Given the description of an element on the screen output the (x, y) to click on. 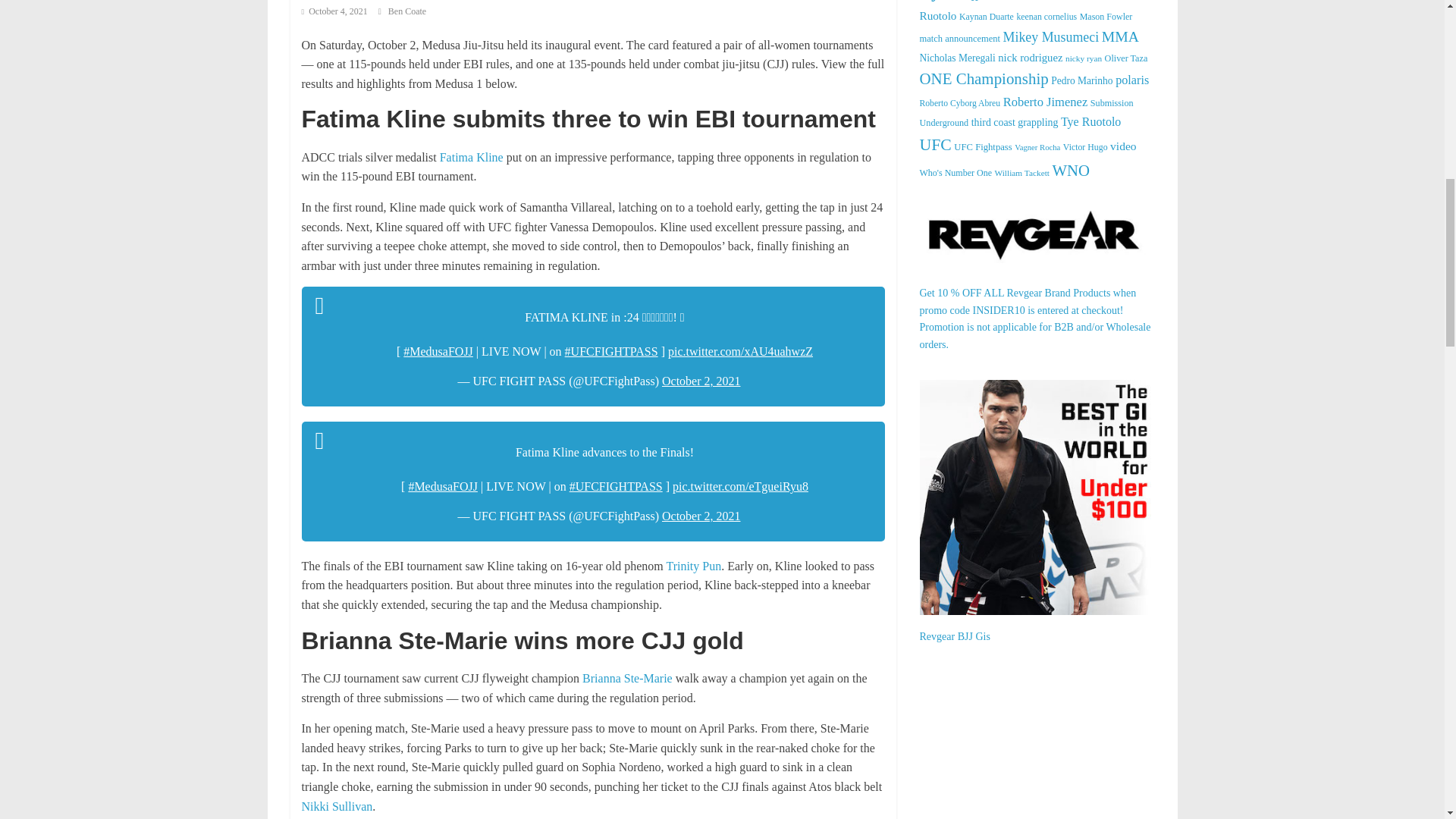
Ben Coate (407, 10)
Fatima Kline (471, 156)
8:39 pm (334, 10)
October 2, 2021 (701, 515)
October 2, 2021 (701, 380)
Ben Coate (407, 10)
October 4, 2021 (334, 10)
